Given the description of an element on the screen output the (x, y) to click on. 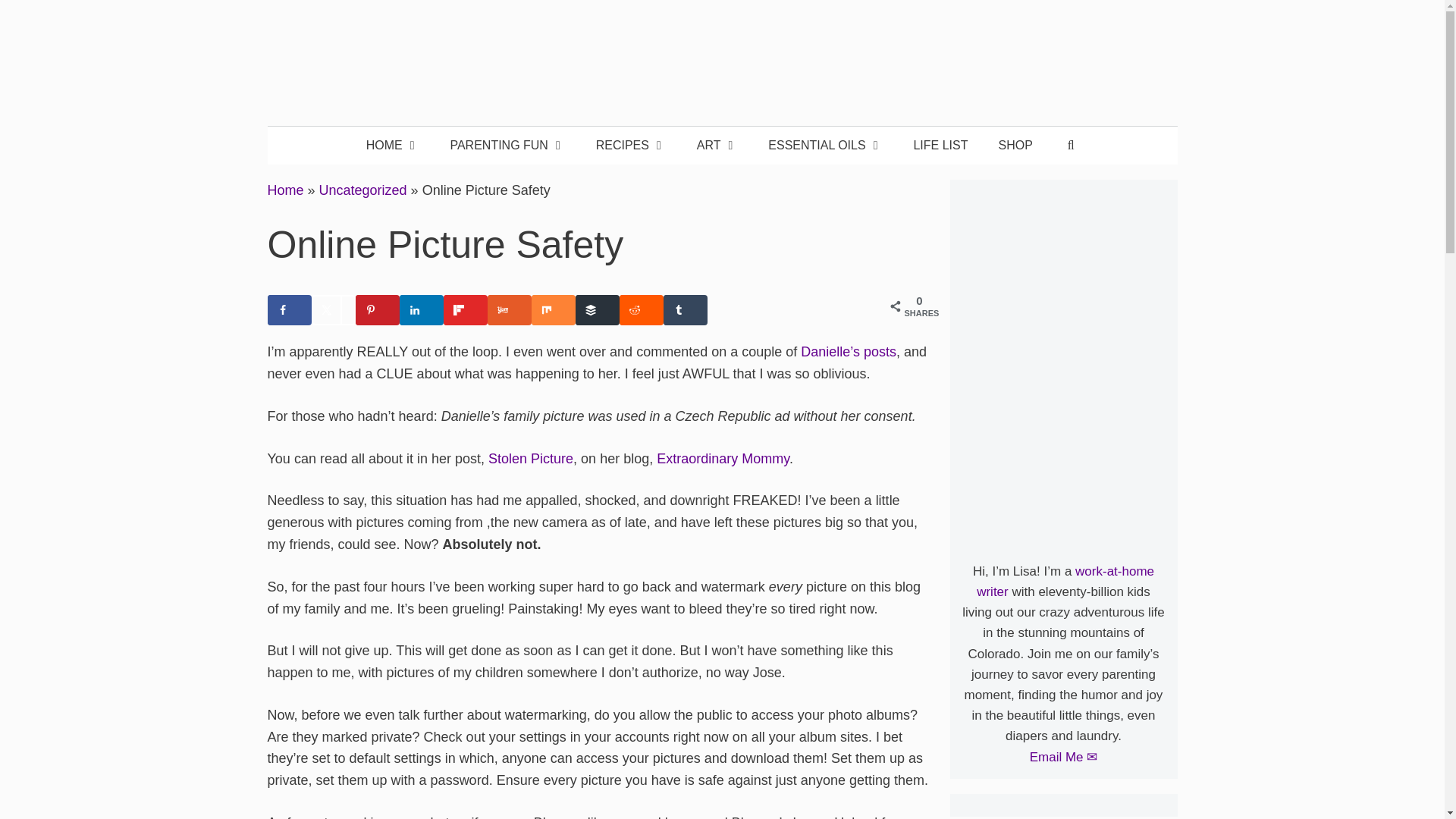
PARENTING FUN (506, 145)
RECIPES (630, 145)
HOME (392, 145)
ART (717, 145)
ESSENTIAL OILS (825, 145)
